Given the description of an element on the screen output the (x, y) to click on. 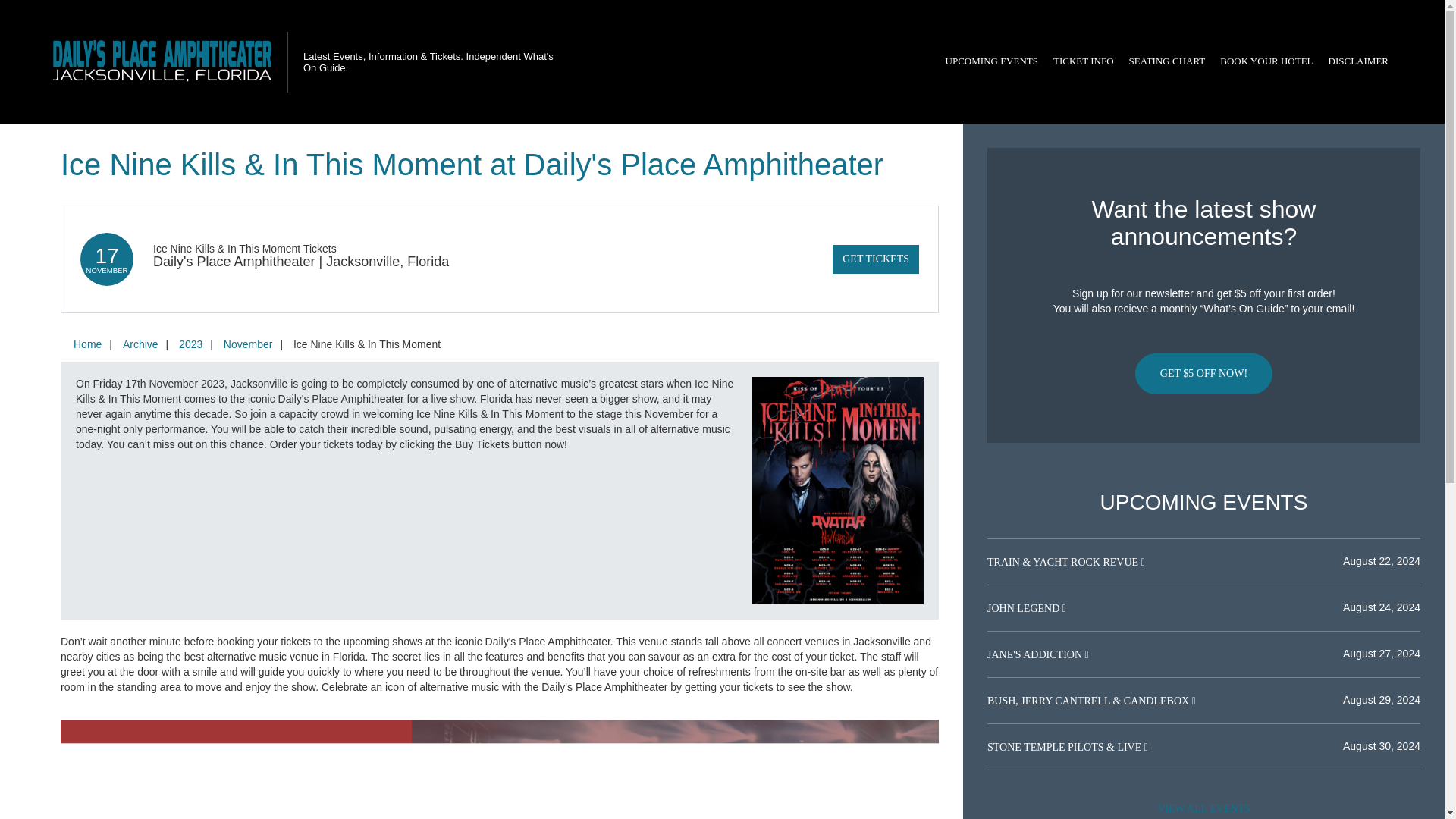
JOHN LEGEND (1024, 608)
VIEW ALL EVENTS (1203, 806)
Home (87, 344)
November (248, 344)
UPCOMING EVENTS (991, 61)
2023 (190, 344)
Archive (140, 344)
DISCLAIMER (1358, 61)
GET TICKETS (875, 258)
BOOK YOUR HOTEL (1266, 61)
